Given the description of an element on the screen output the (x, y) to click on. 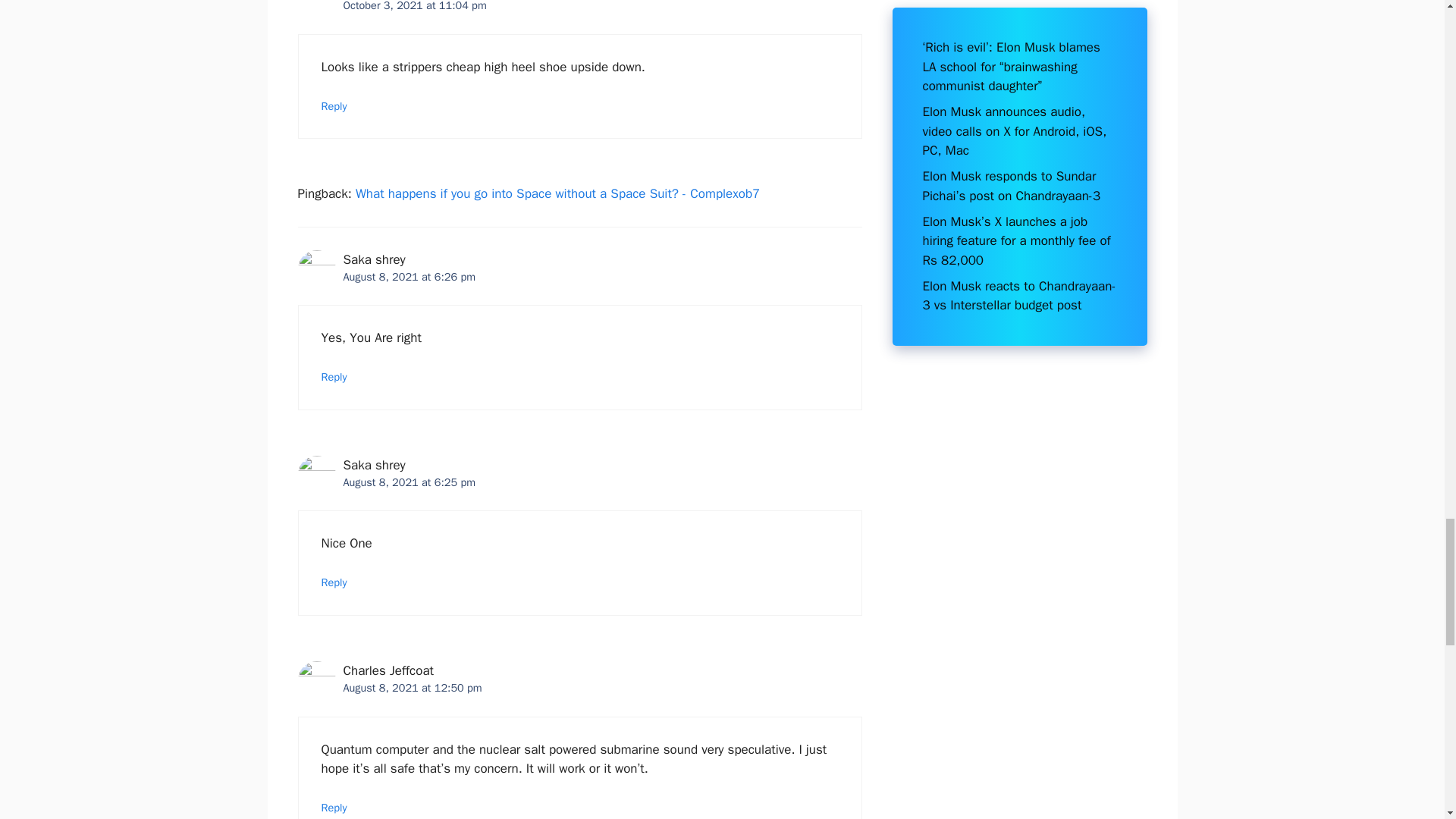
August 8, 2021 at 6:25 pm (409, 481)
Reply (334, 581)
Reply (334, 377)
October 3, 2021 at 11:04 pm (414, 6)
Reply (334, 106)
August 8, 2021 at 6:26 pm (409, 276)
